Given the description of an element on the screen output the (x, y) to click on. 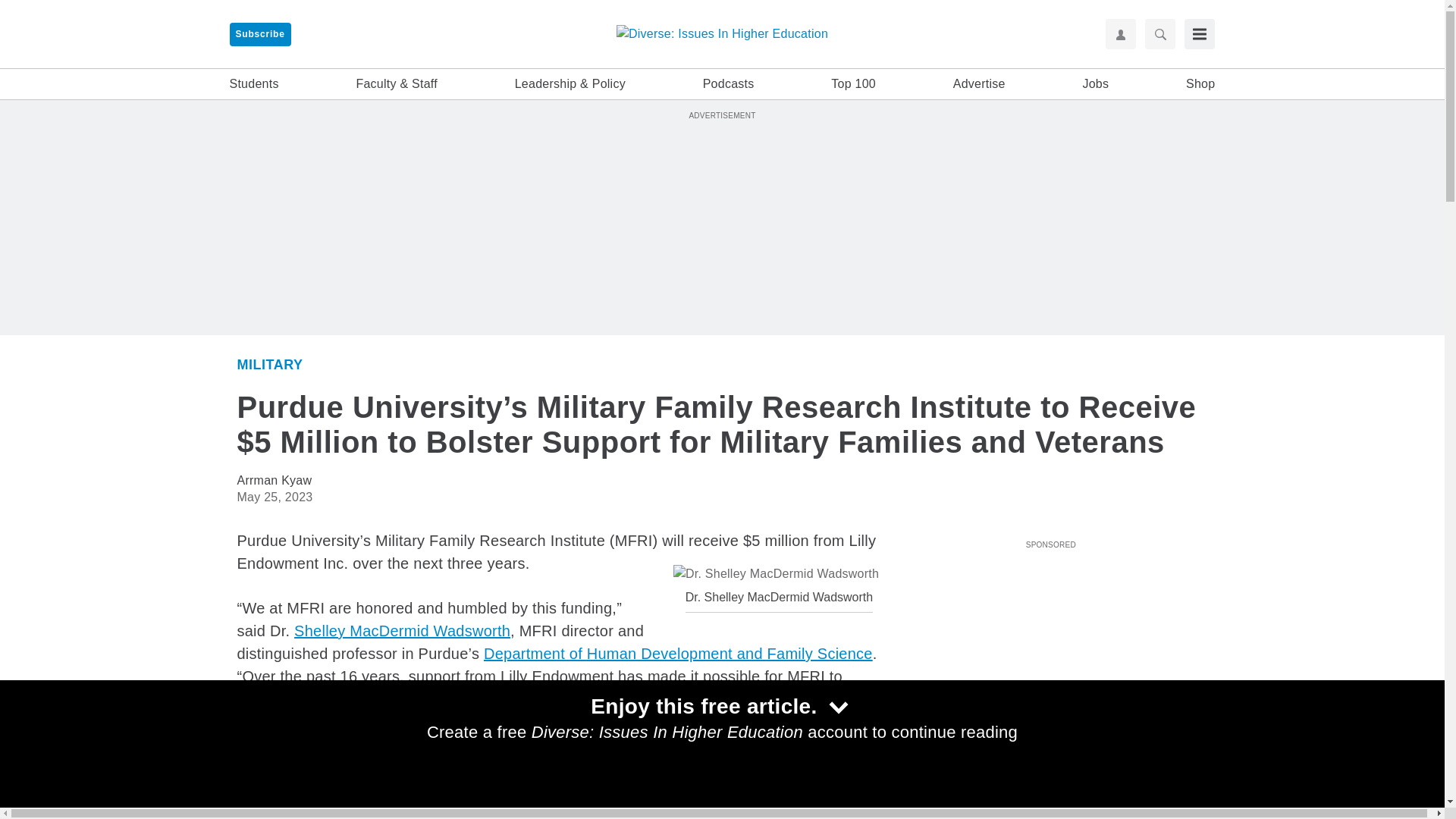
Subscribe (258, 33)
Shop (1200, 84)
Military (919, 810)
Advertise (979, 84)
Youtube Player (1050, 640)
Top 100 (853, 84)
Jobs (1094, 84)
Military (268, 364)
Subscribe (258, 33)
Podcasts (728, 84)
Students (253, 84)
